Given the description of an element on the screen output the (x, y) to click on. 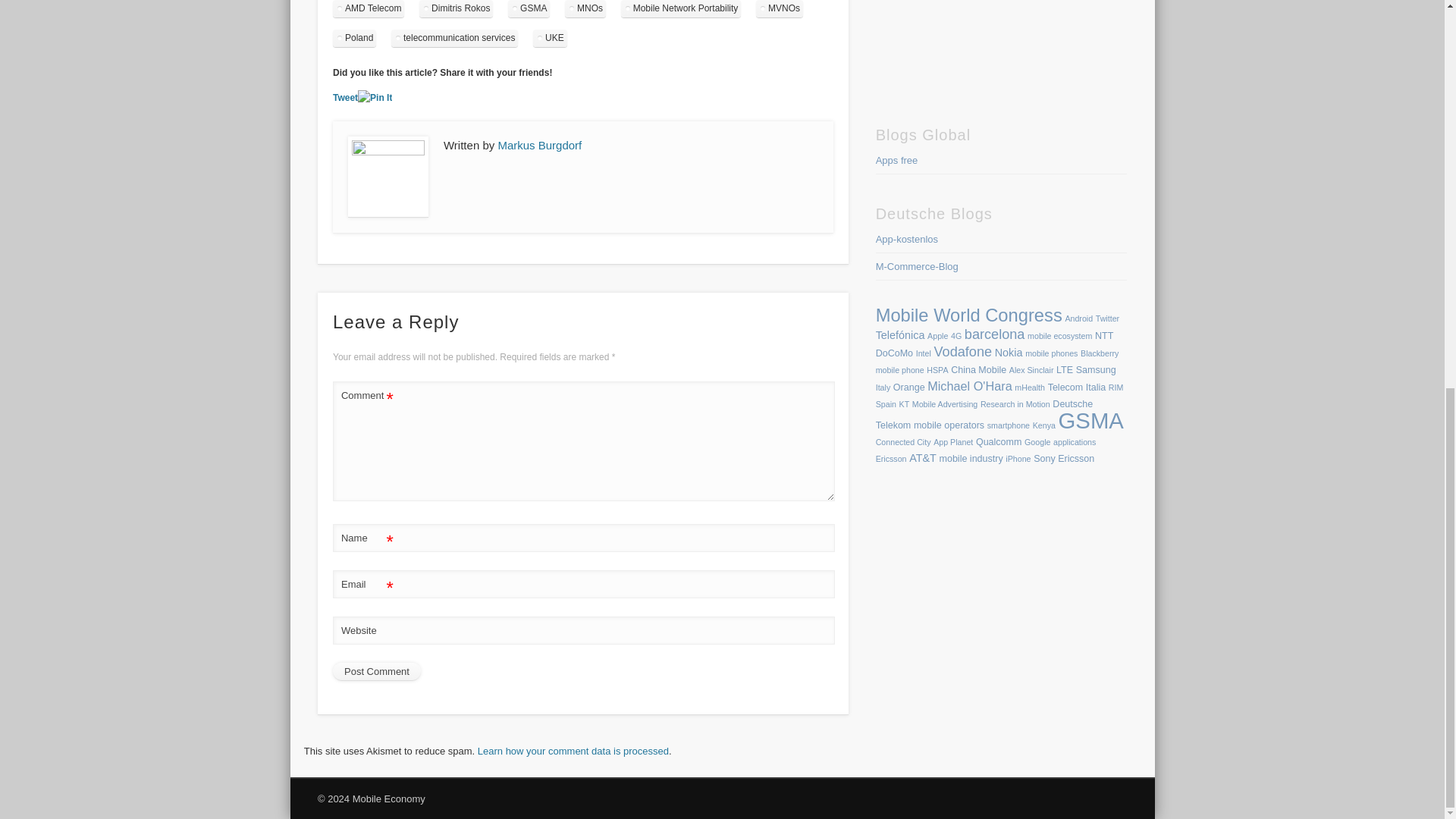
Poland (354, 37)
Tweet (345, 97)
UKE (549, 37)
Android (1078, 317)
Advertisement (989, 45)
telecommunication services (454, 37)
Post Comment (376, 670)
Markus Burgdorf (538, 144)
3 topics (937, 335)
Pin It (374, 98)
Mobile World Congress (969, 315)
MVNOs (779, 8)
Learn how your comment data is processed (572, 750)
19 topics (969, 315)
Every Day a paid app for free! (897, 160)
